Given the description of an element on the screen output the (x, y) to click on. 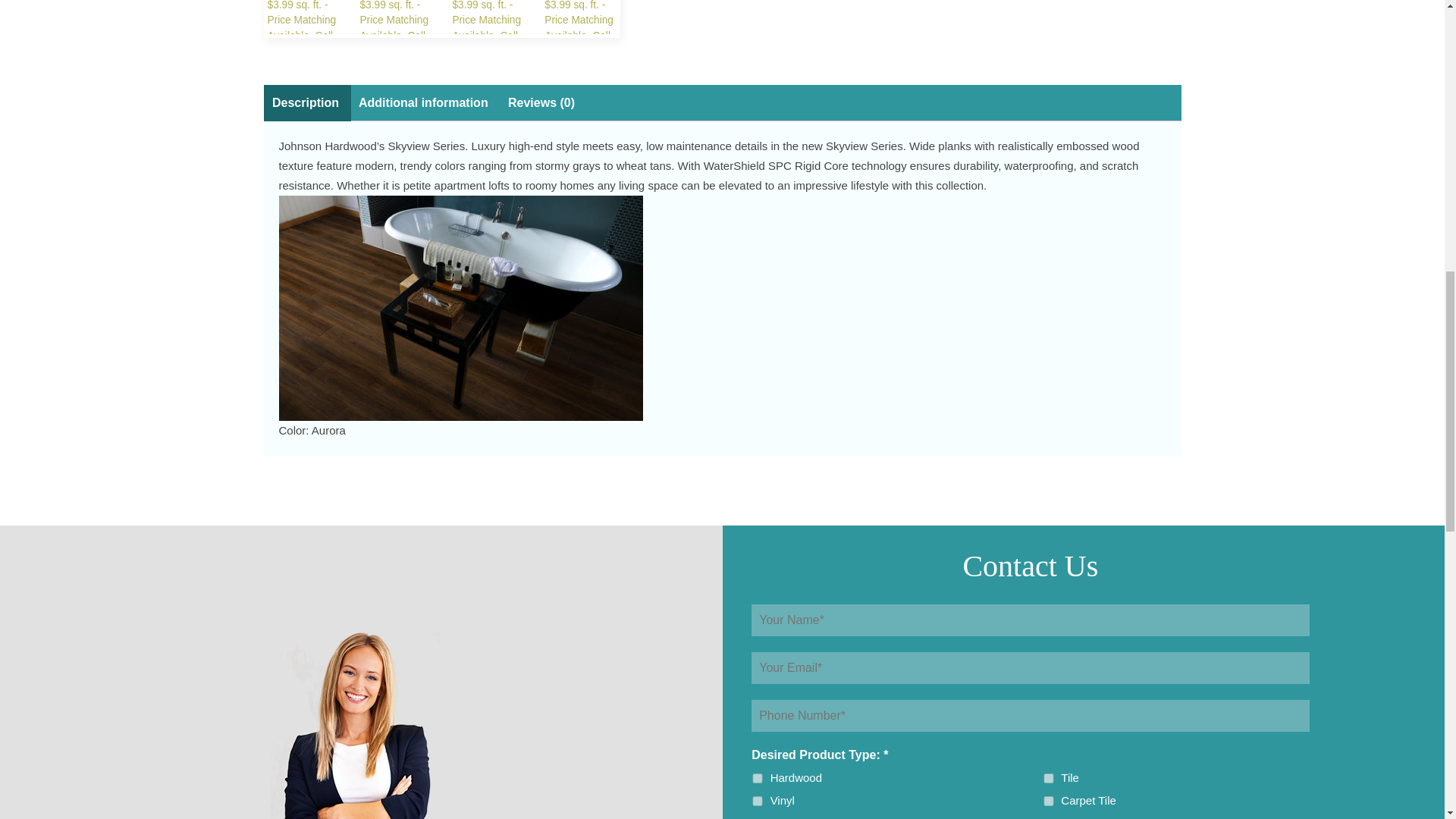
Hardwood (757, 777)
Carpet Tile (1048, 800)
Tile (1048, 777)
Vinyl (757, 800)
